Given the description of an element on the screen output the (x, y) to click on. 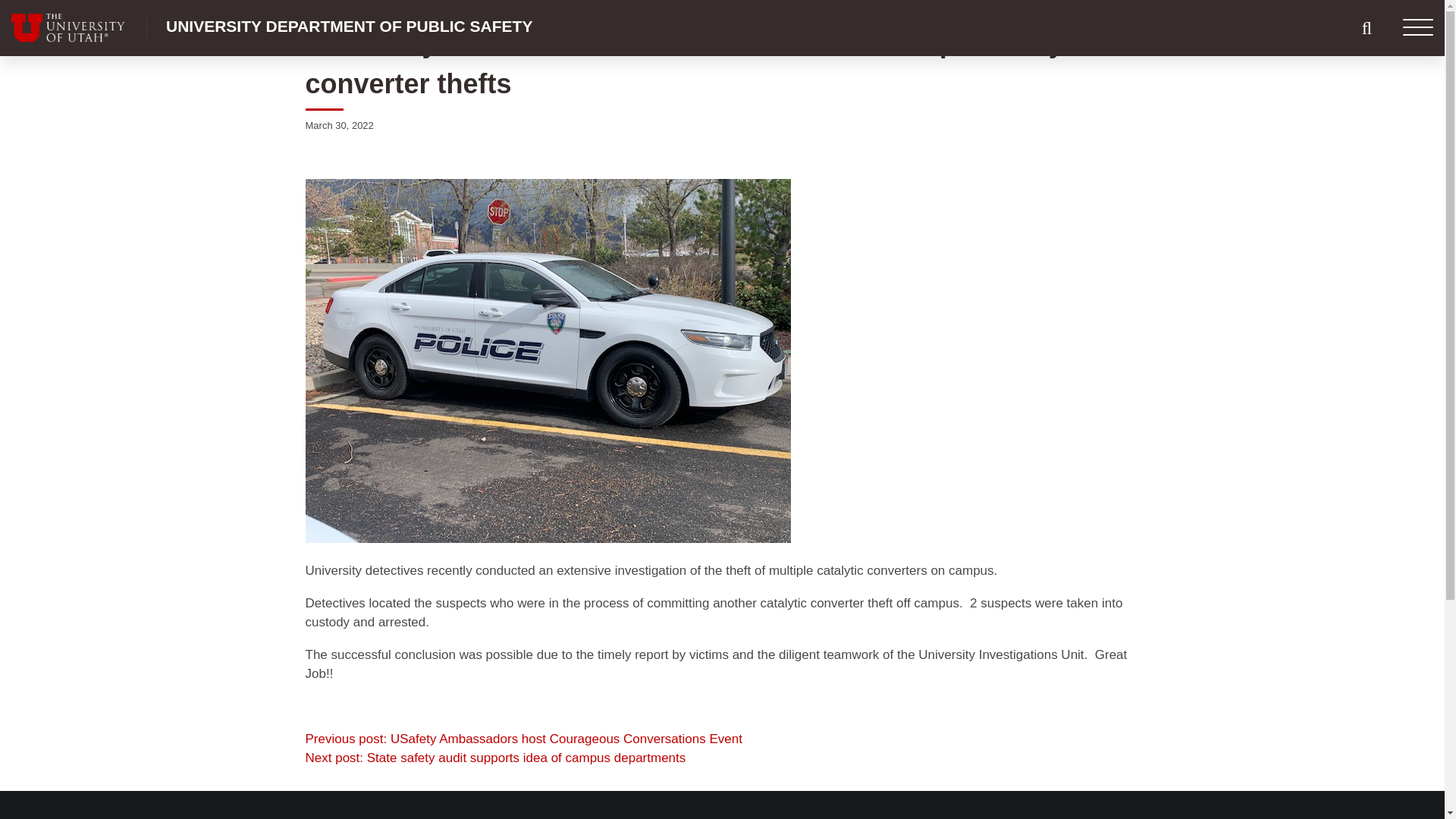
UNIVERSITY DEPARTMENT OF PUBLIC SAFETY (348, 26)
